Given the description of an element on the screen output the (x, y) to click on. 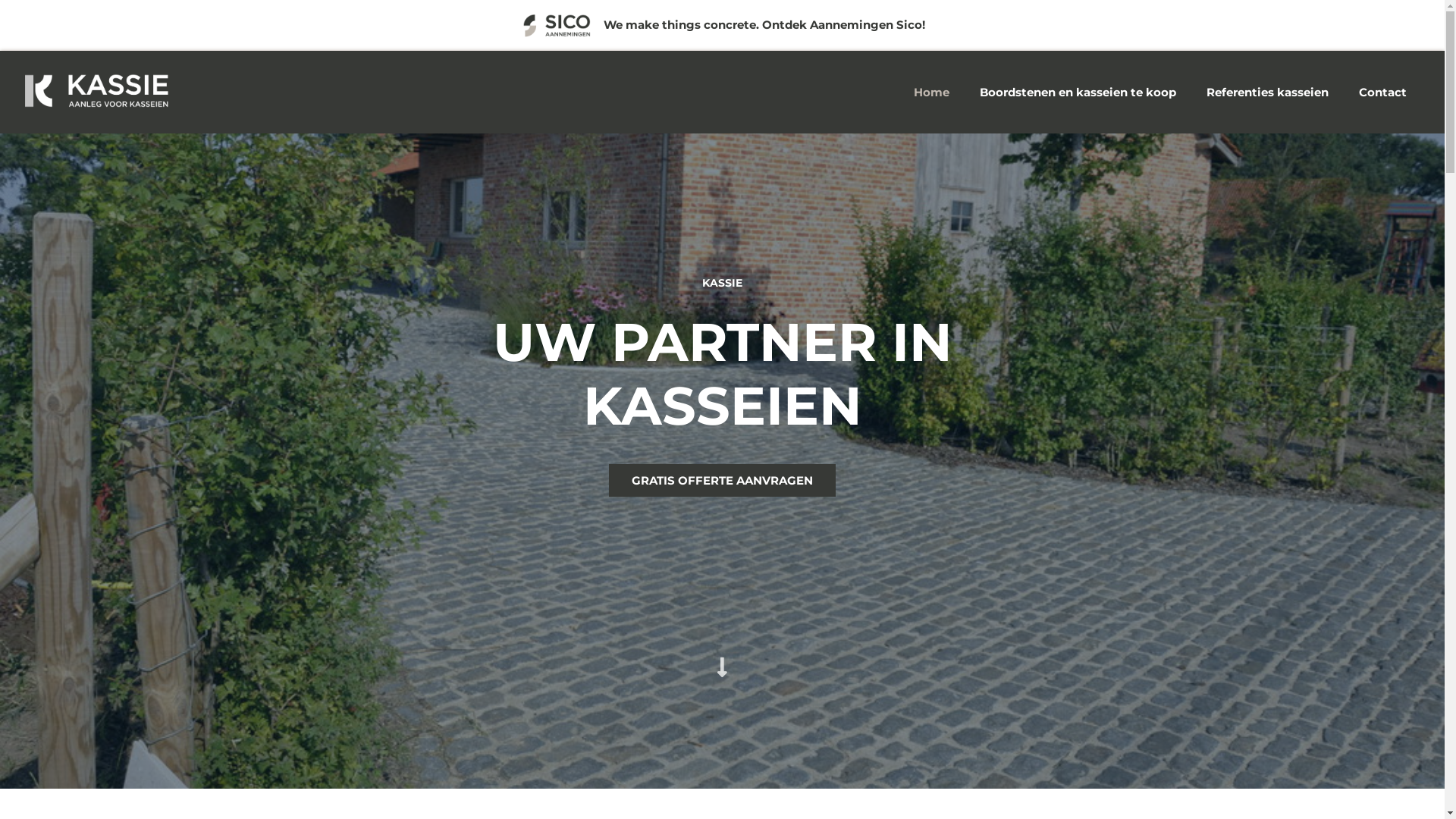
GRATIS OFFERTE AANVRAGEN Element type: text (721, 480)
Referenties kasseien Element type: text (1267, 92)
Home Element type: text (931, 92)
We make things concrete. Ontdek Aannemingen Sico! Element type: text (764, 24)
Boordstenen en kasseien te koop Element type: text (1077, 92)
Contact Element type: text (1382, 92)
